Given the description of an element on the screen output the (x, y) to click on. 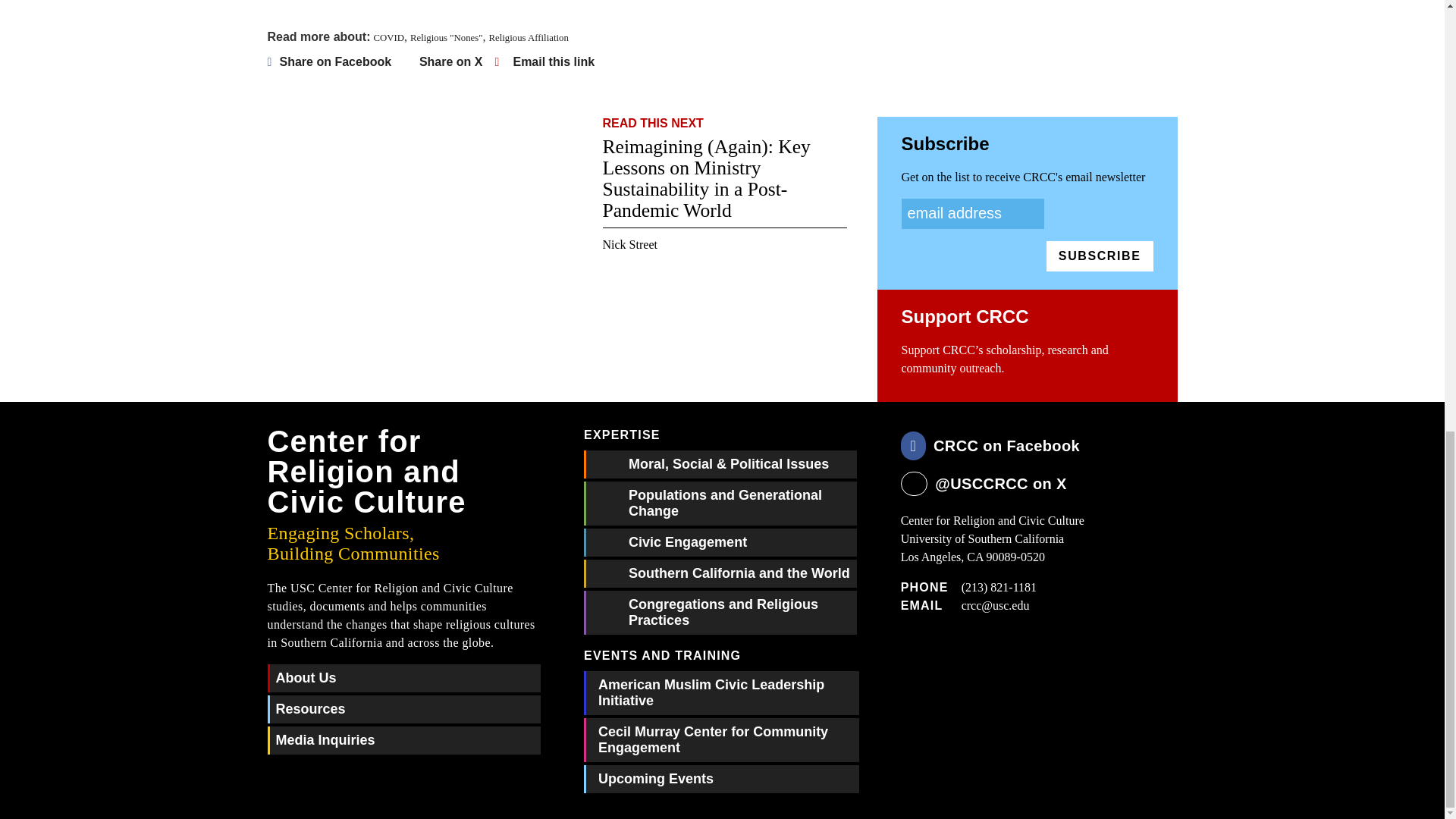
Subscribe (1099, 255)
